Given the description of an element on the screen output the (x, y) to click on. 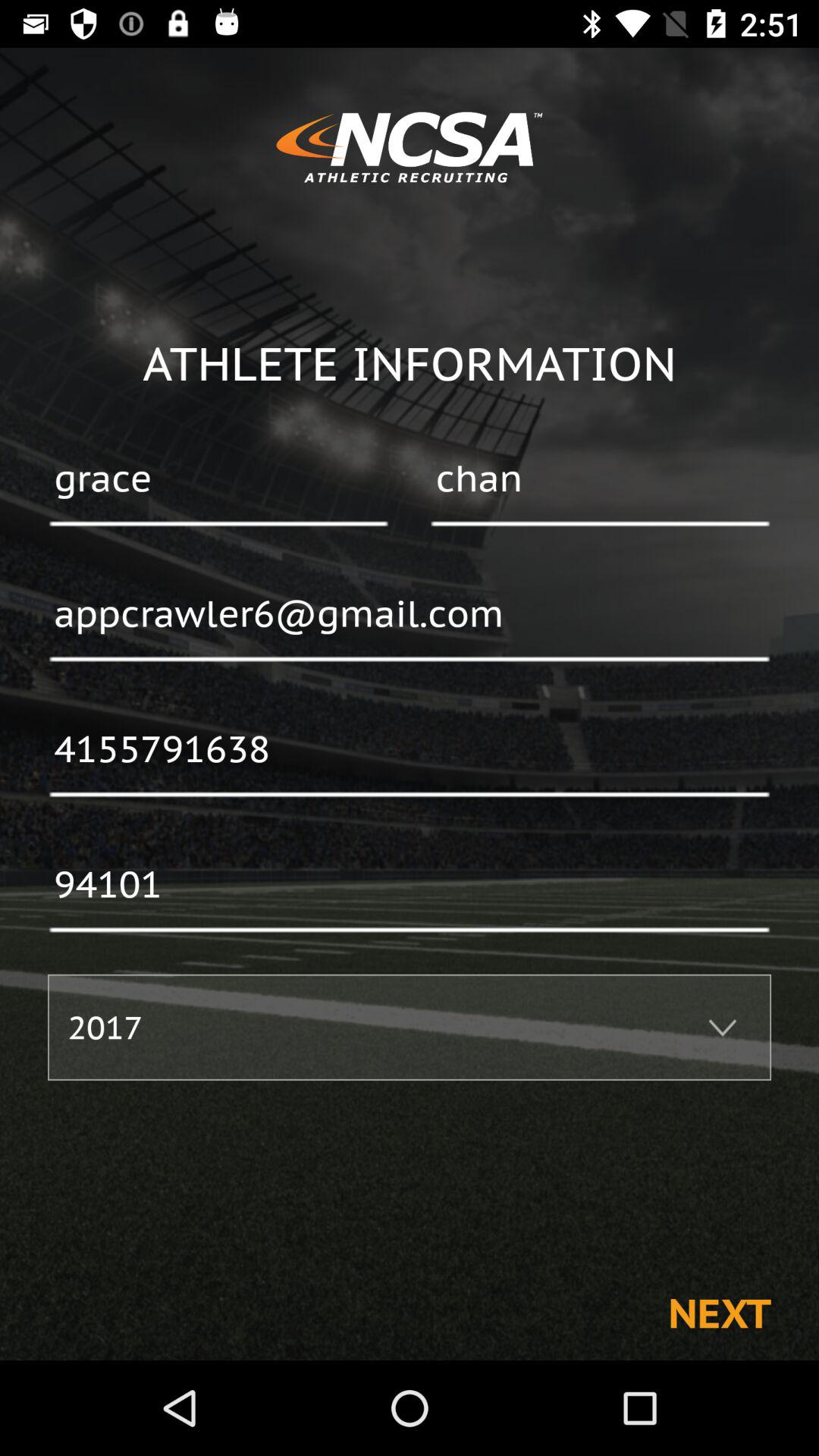
open the icon below appcrawler6@gmail.com item (409, 750)
